Given the description of an element on the screen output the (x, y) to click on. 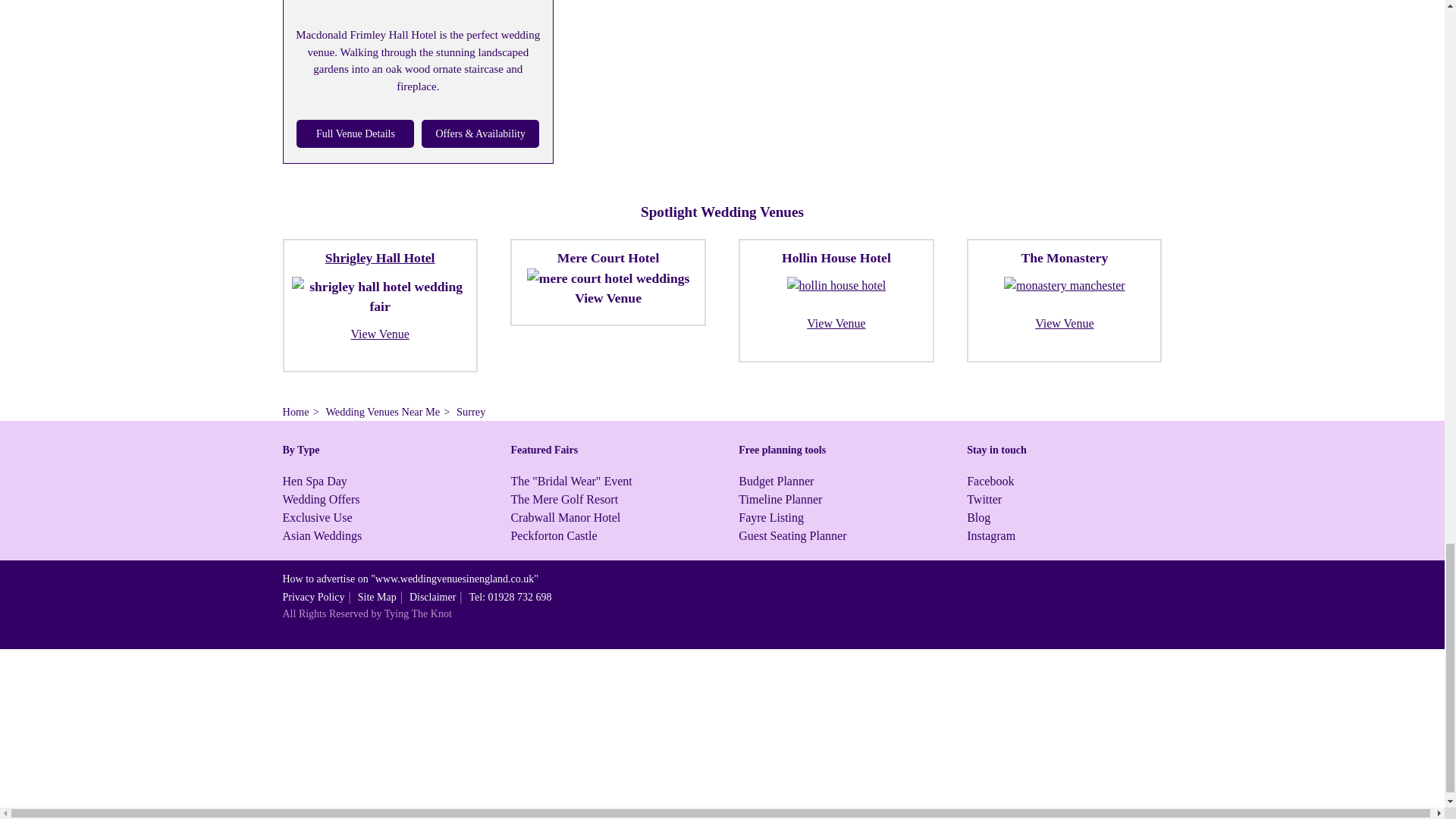
Go to Wedding Venues in England. (295, 411)
Go to Wedding Venues Near Me. (381, 411)
